Given the description of an element on the screen output the (x, y) to click on. 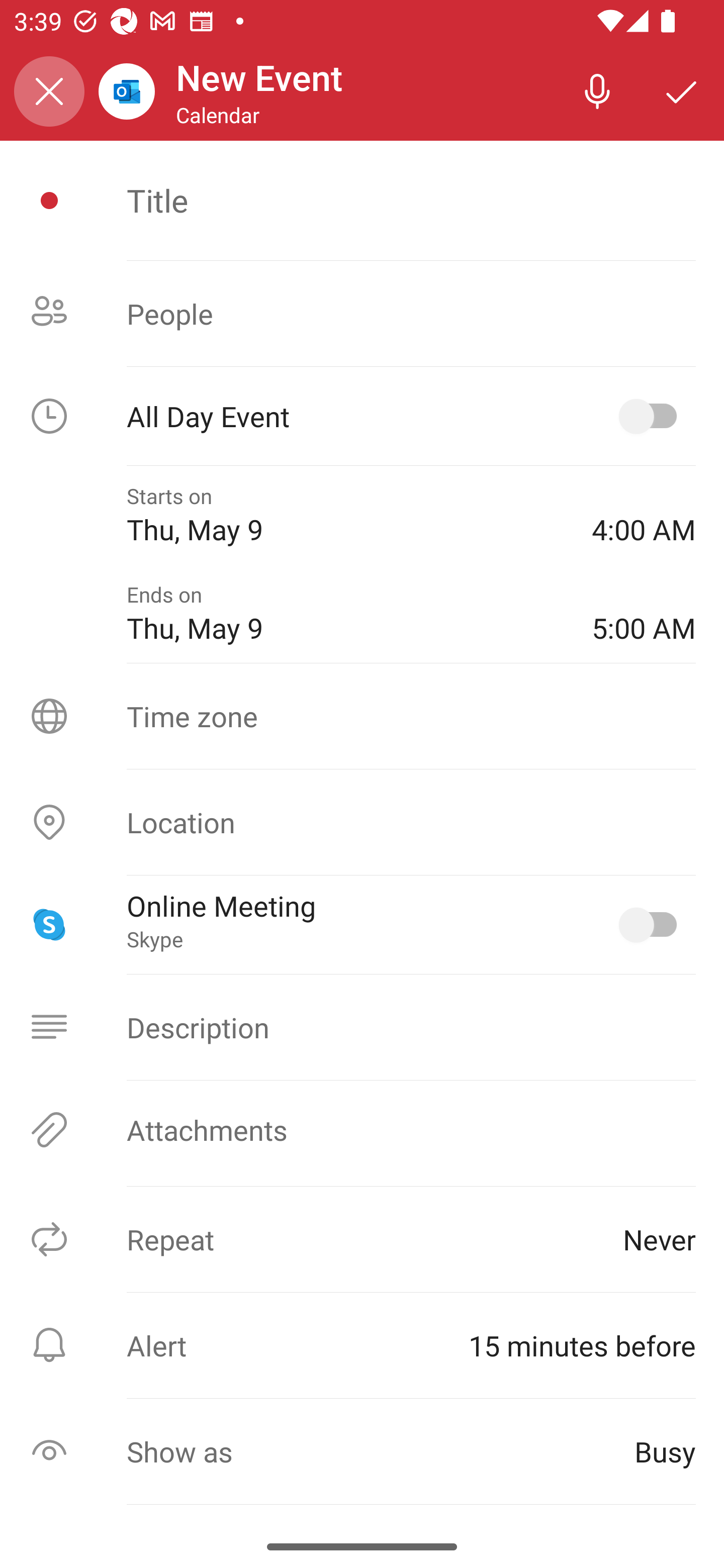
Close (49, 91)
Save (681, 90)
Title (410, 200)
Event icon picker (48, 200)
People (362, 313)
All Day Event (362, 415)
Starts on Thu, May 9 (344, 514)
4:00 AM (643, 514)
Ends on Thu, May 9 (344, 613)
5:00 AM (643, 613)
Time zone (362, 715)
Location (362, 821)
Online Meeting, Skype selected (651, 923)
Description (362, 1026)
Attachments (362, 1129)
Repeat Never (362, 1239)
Alert ⁨15 minutes before (362, 1345)
Show as Busy (362, 1450)
